Given the description of an element on the screen output the (x, y) to click on. 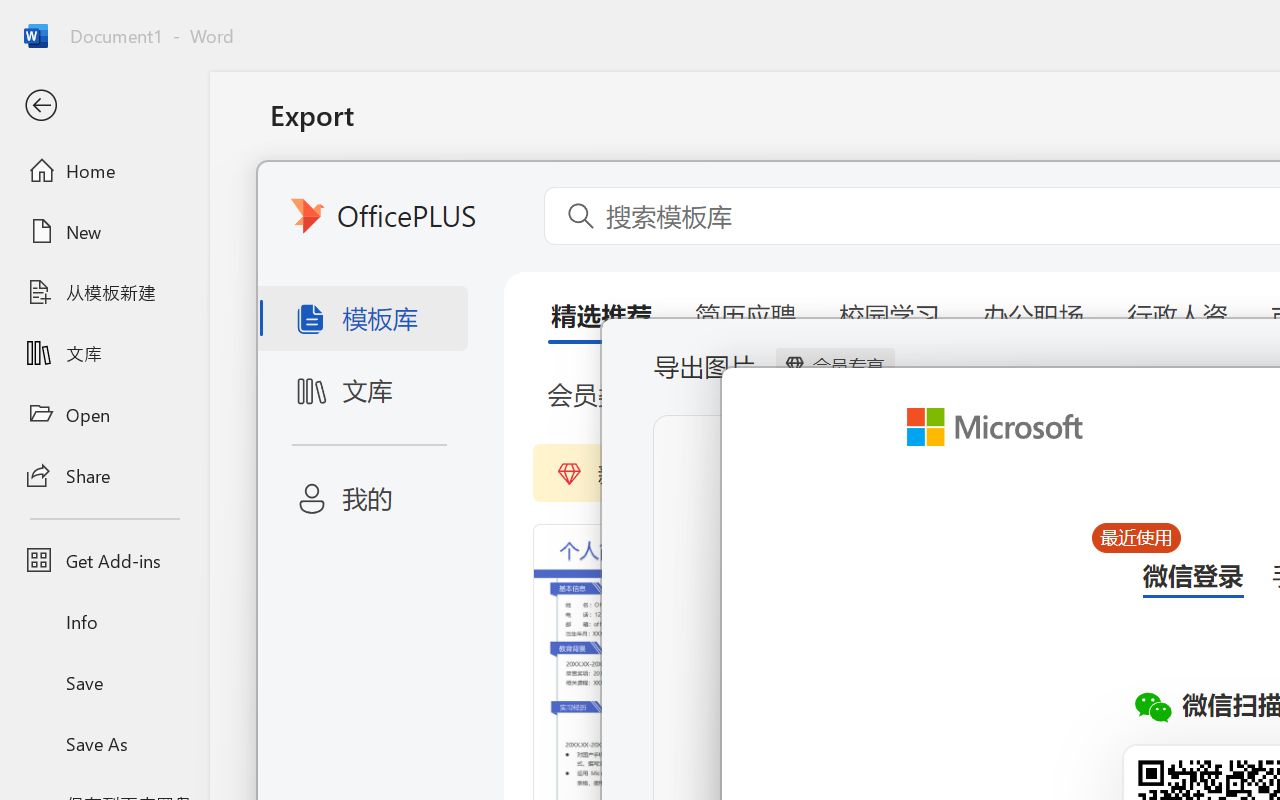
Info (104, 621)
Get Add-ins (104, 560)
Save As (104, 743)
New (104, 231)
